Given the description of an element on the screen output the (x, y) to click on. 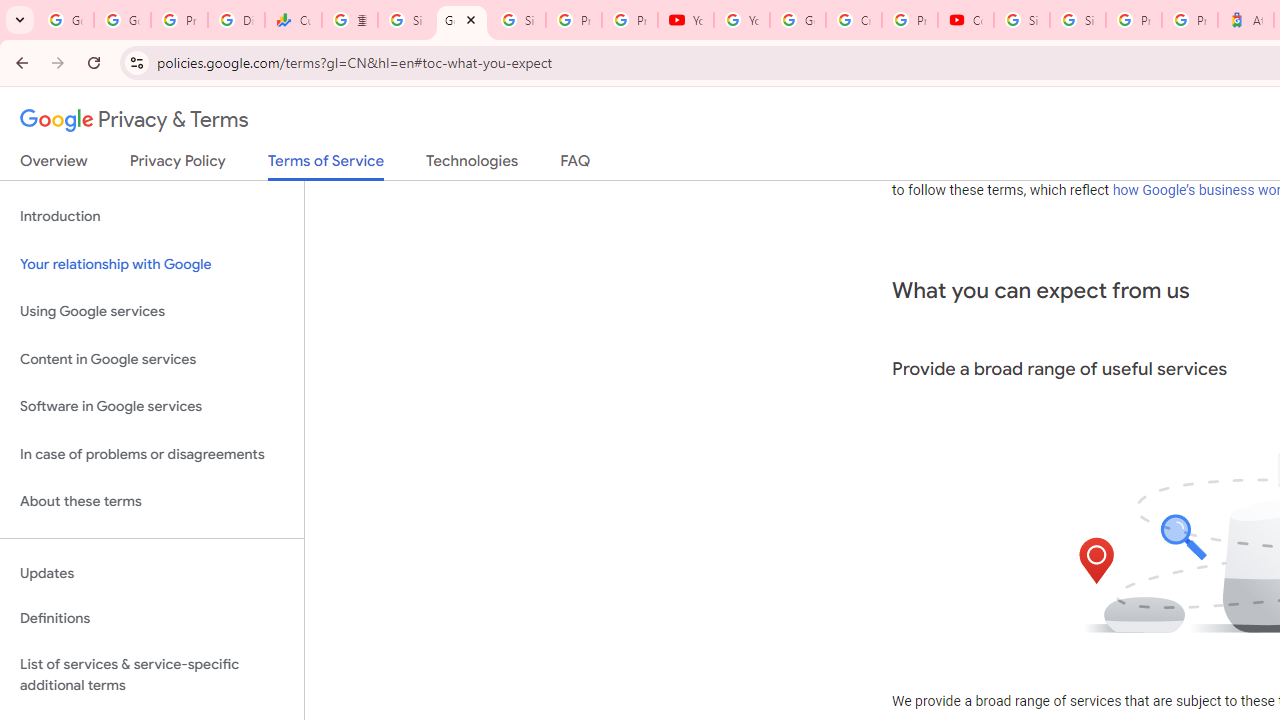
YouTube (685, 20)
Sign in - Google Accounts (405, 20)
Currencies - Google Finance (293, 20)
Sign in - Google Accounts (1077, 20)
Create your Google Account (853, 20)
Forward (57, 62)
In case of problems or disagreements (152, 453)
Your relationship with Google (152, 263)
Search tabs (20, 20)
FAQ (575, 165)
Introduction (152, 216)
System (10, 11)
Content in Google services (152, 358)
